Given the description of an element on the screen output the (x, y) to click on. 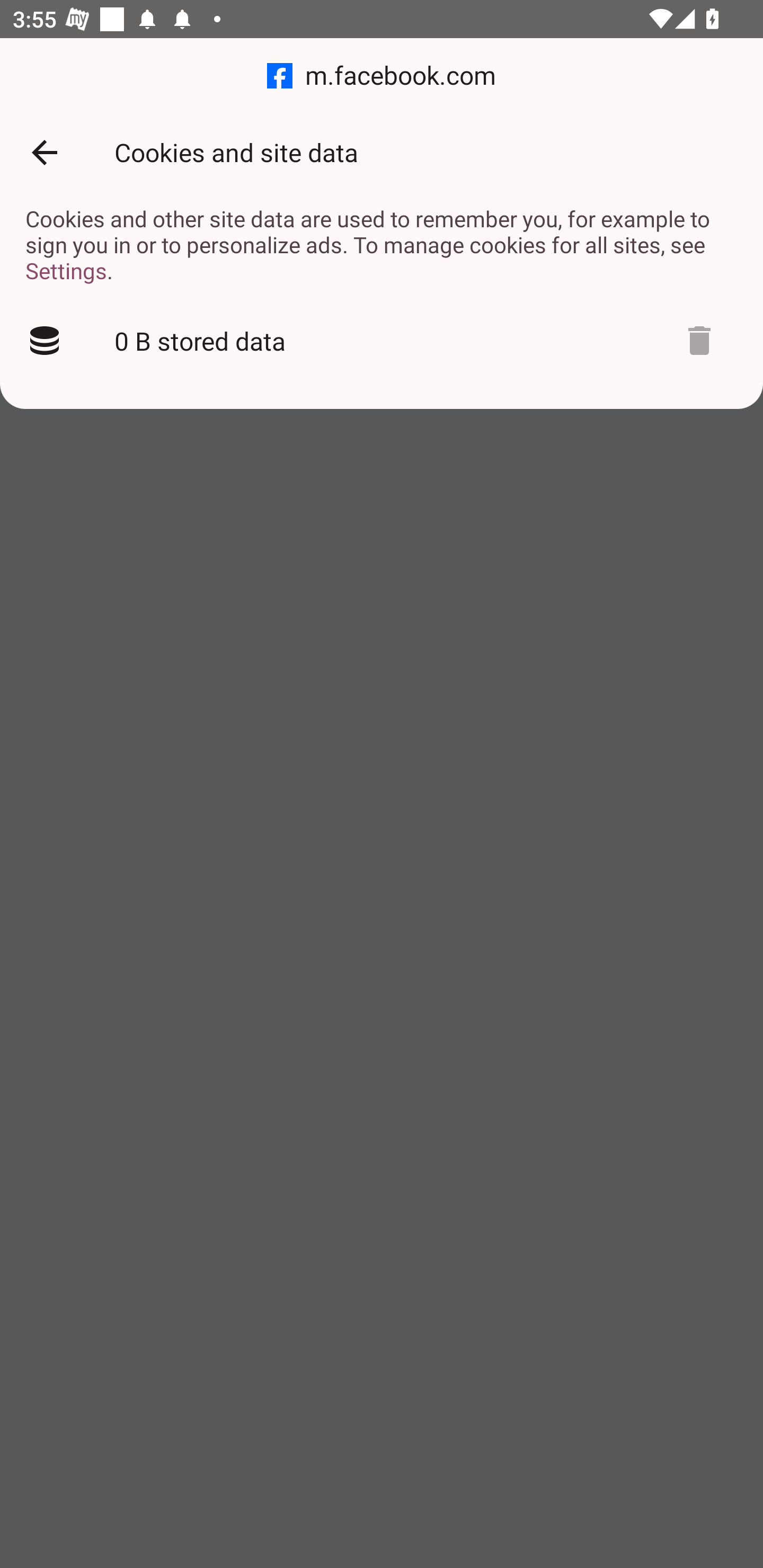
m.facebook.com (381, 75)
Back (44, 152)
0 B stored data Delete cookies? (381, 340)
